Given the description of an element on the screen output the (x, y) to click on. 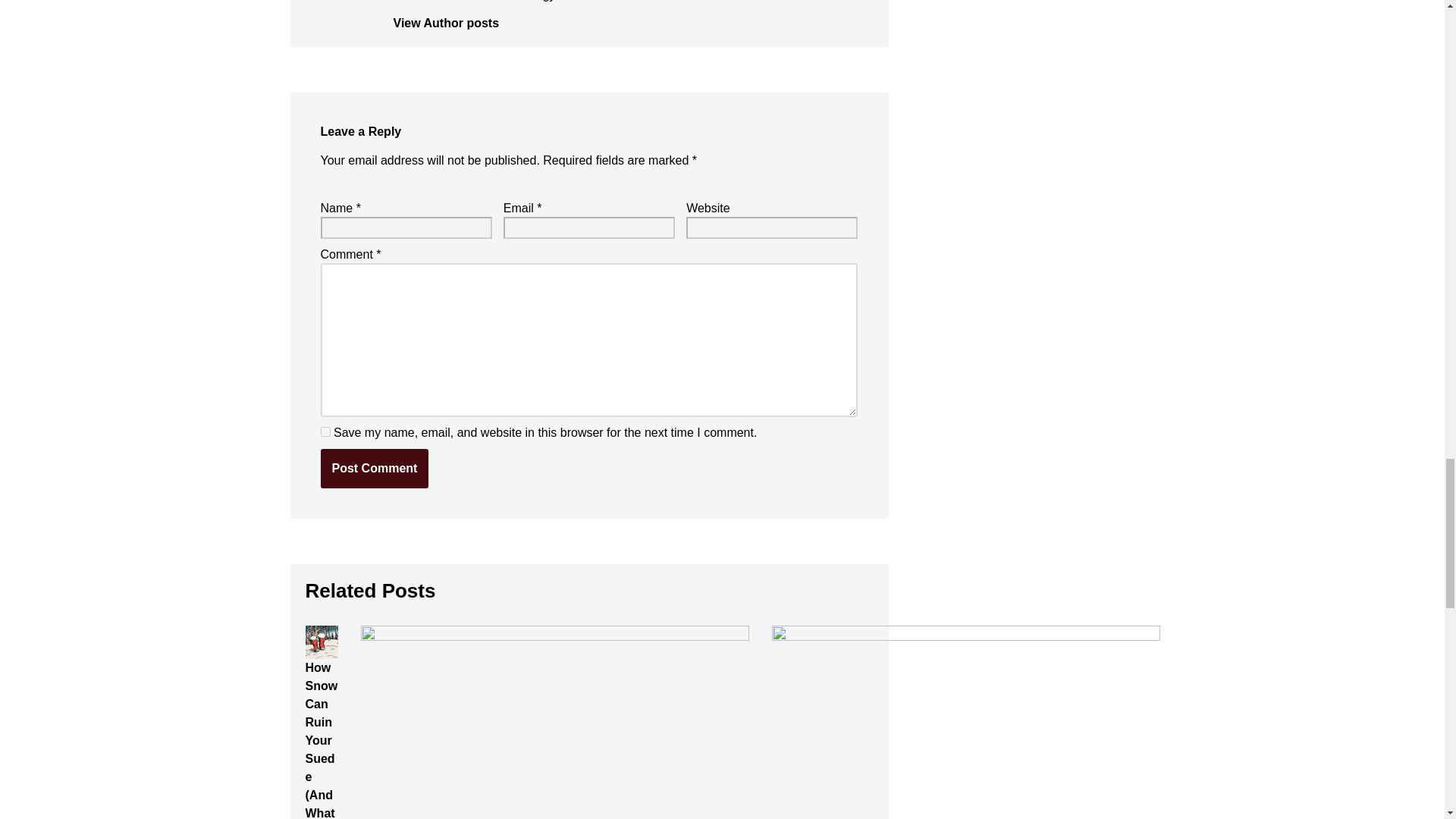
Post Comment (374, 468)
View Author posts (632, 23)
Post Comment (374, 468)
yes (325, 431)
